Given the description of an element on the screen output the (x, y) to click on. 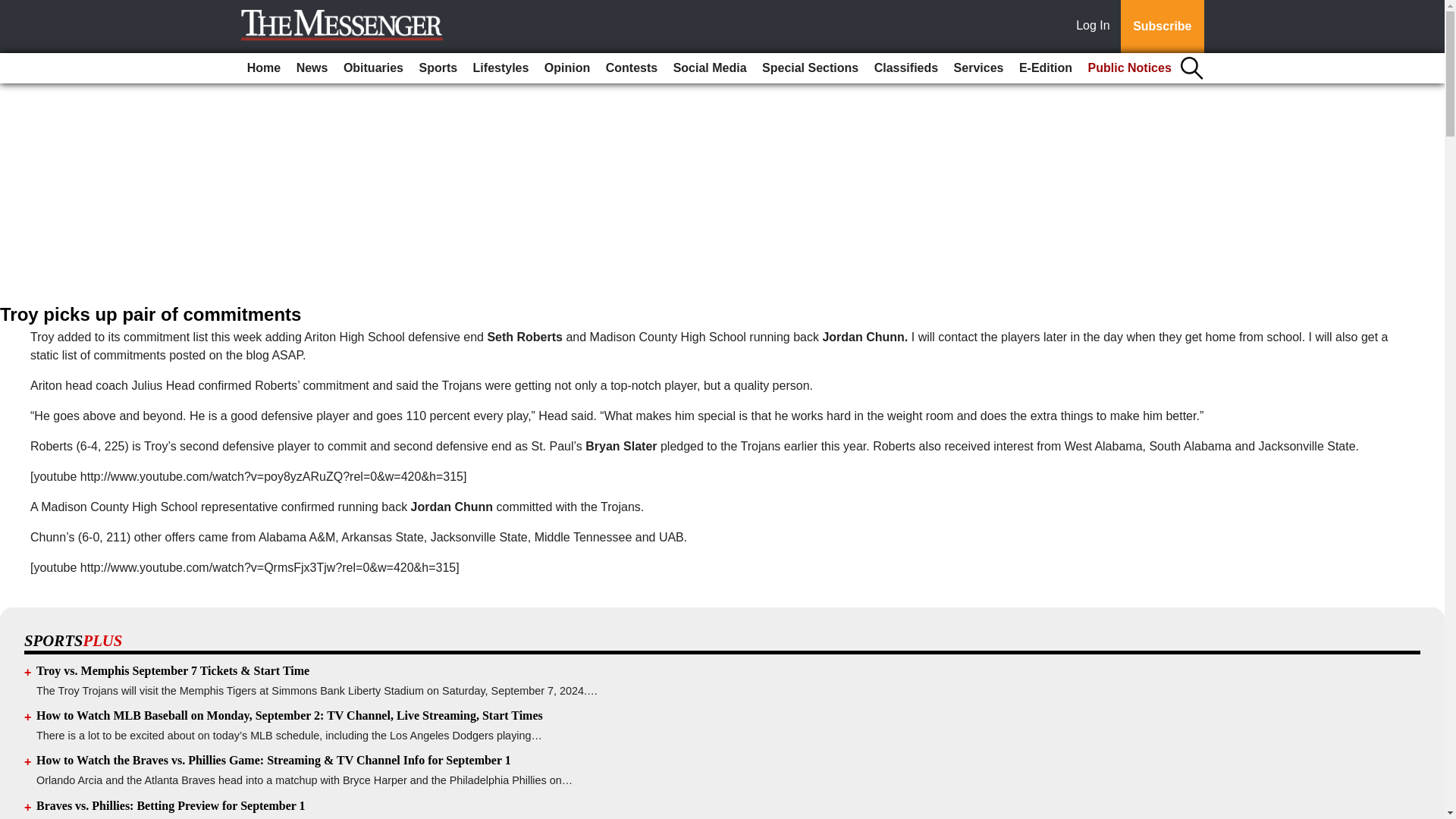
Obituaries (373, 68)
Log In (1095, 26)
Contests (631, 68)
Lifestyles (501, 68)
Home (263, 68)
Subscribe (1162, 26)
Social Media (709, 68)
E-Edition (1045, 68)
Services (978, 68)
News (311, 68)
